Given the description of an element on the screen output the (x, y) to click on. 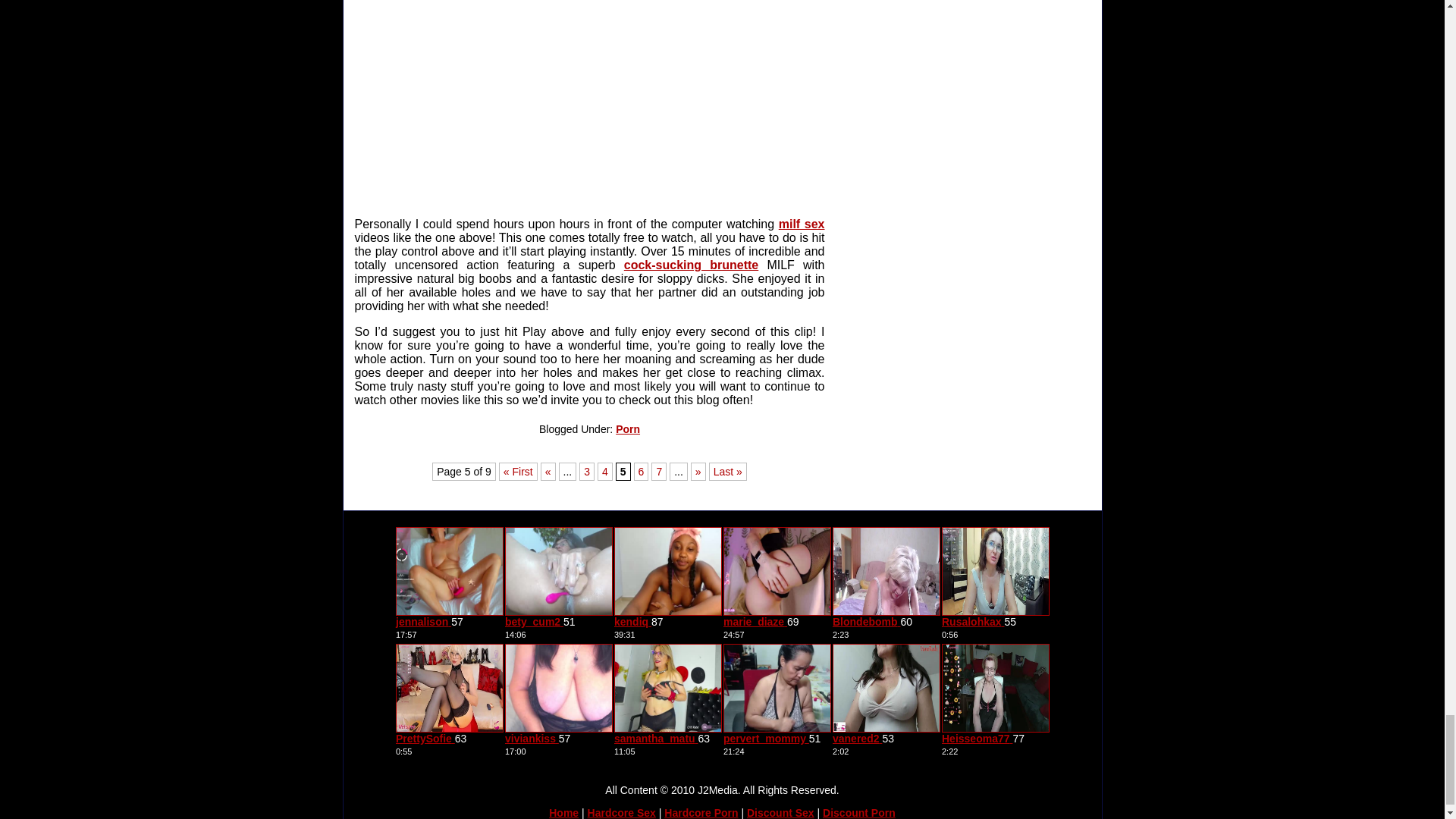
Premium Galleries video player (597, 102)
